Given the description of an element on the screen output the (x, y) to click on. 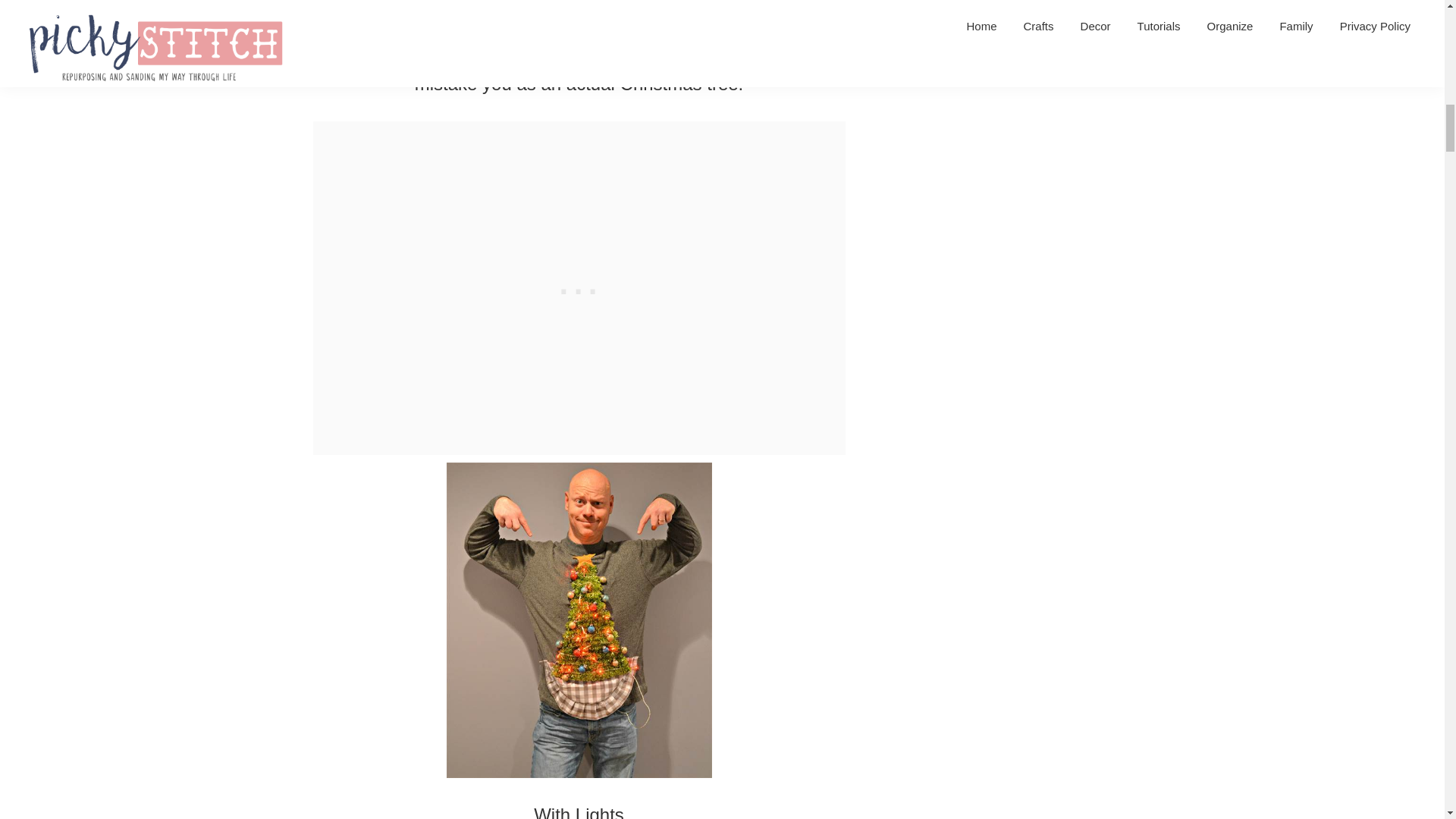
Christmas tree (374, 25)
